Given the description of an element on the screen output the (x, y) to click on. 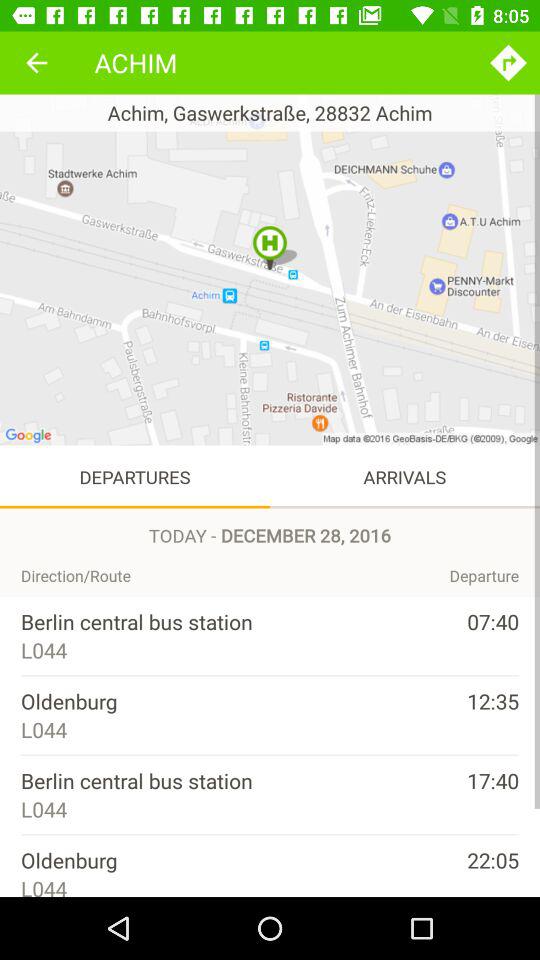
turn on icon to the right of achim icon (508, 62)
